Given the description of an element on the screen output the (x, y) to click on. 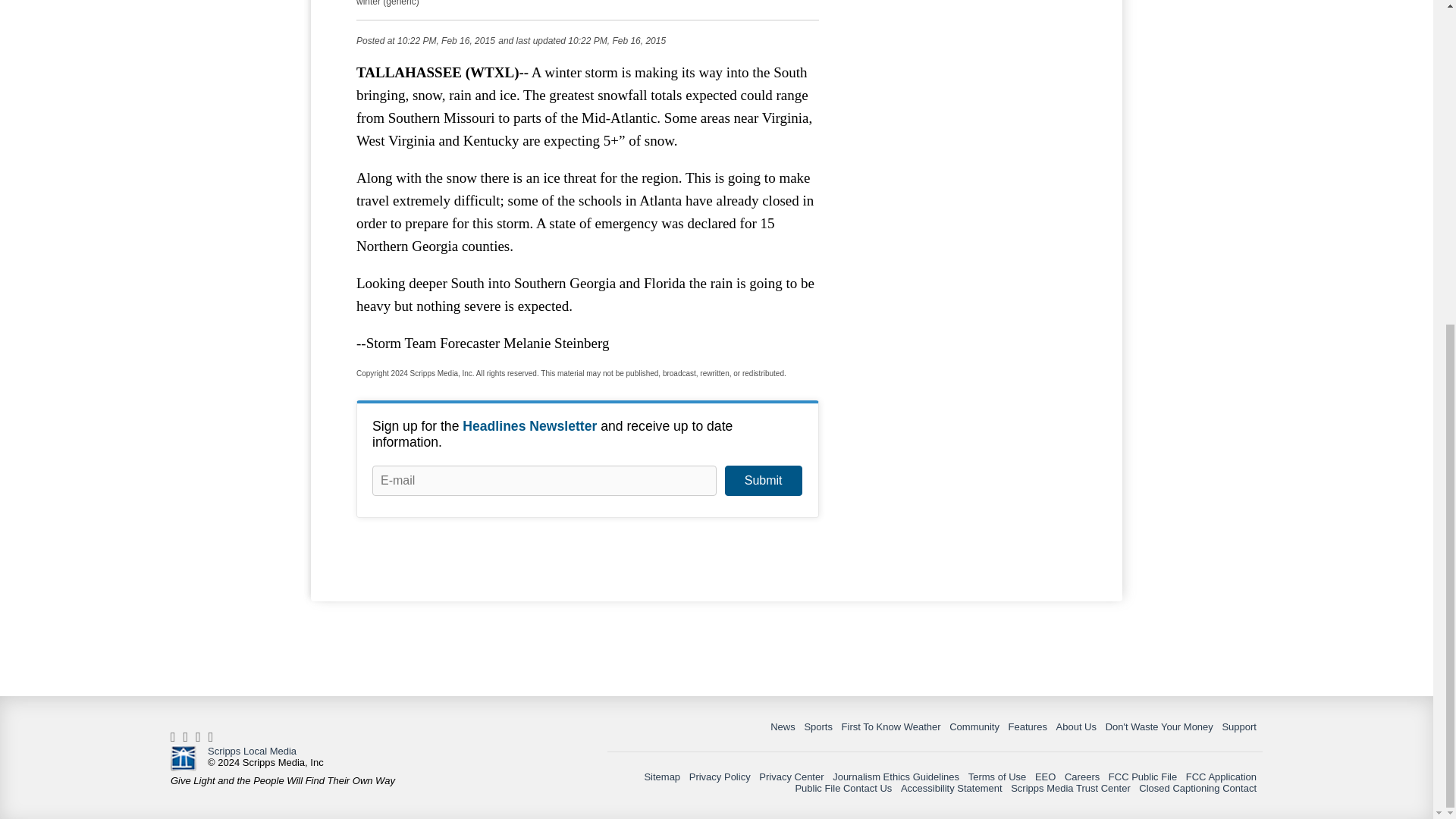
Submit (763, 481)
